Given the description of an element on the screen output the (x, y) to click on. 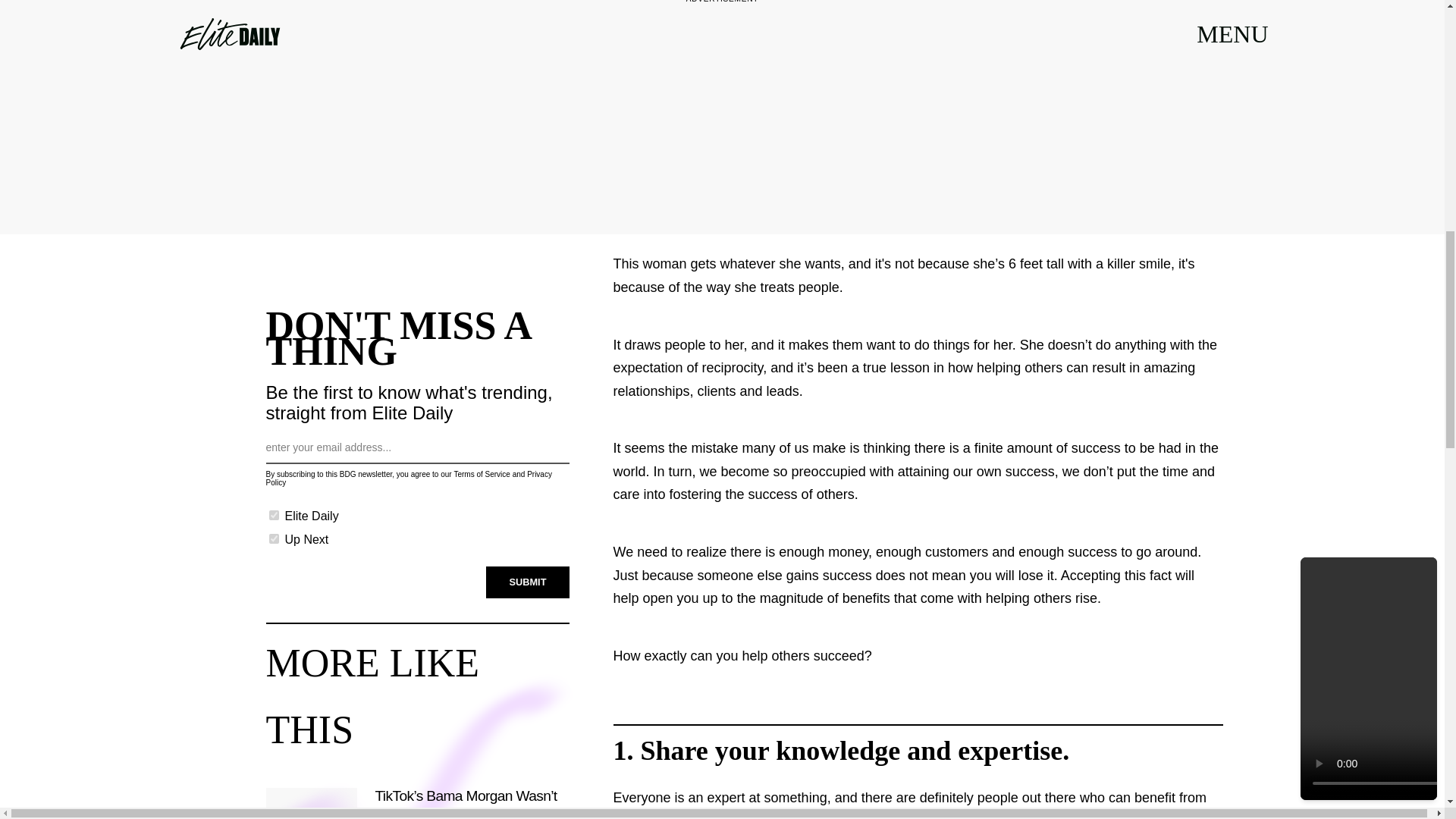
Privacy Policy (407, 476)
SUBMIT (527, 576)
Terms of Service (480, 470)
